Given the description of an element on the screen output the (x, y) to click on. 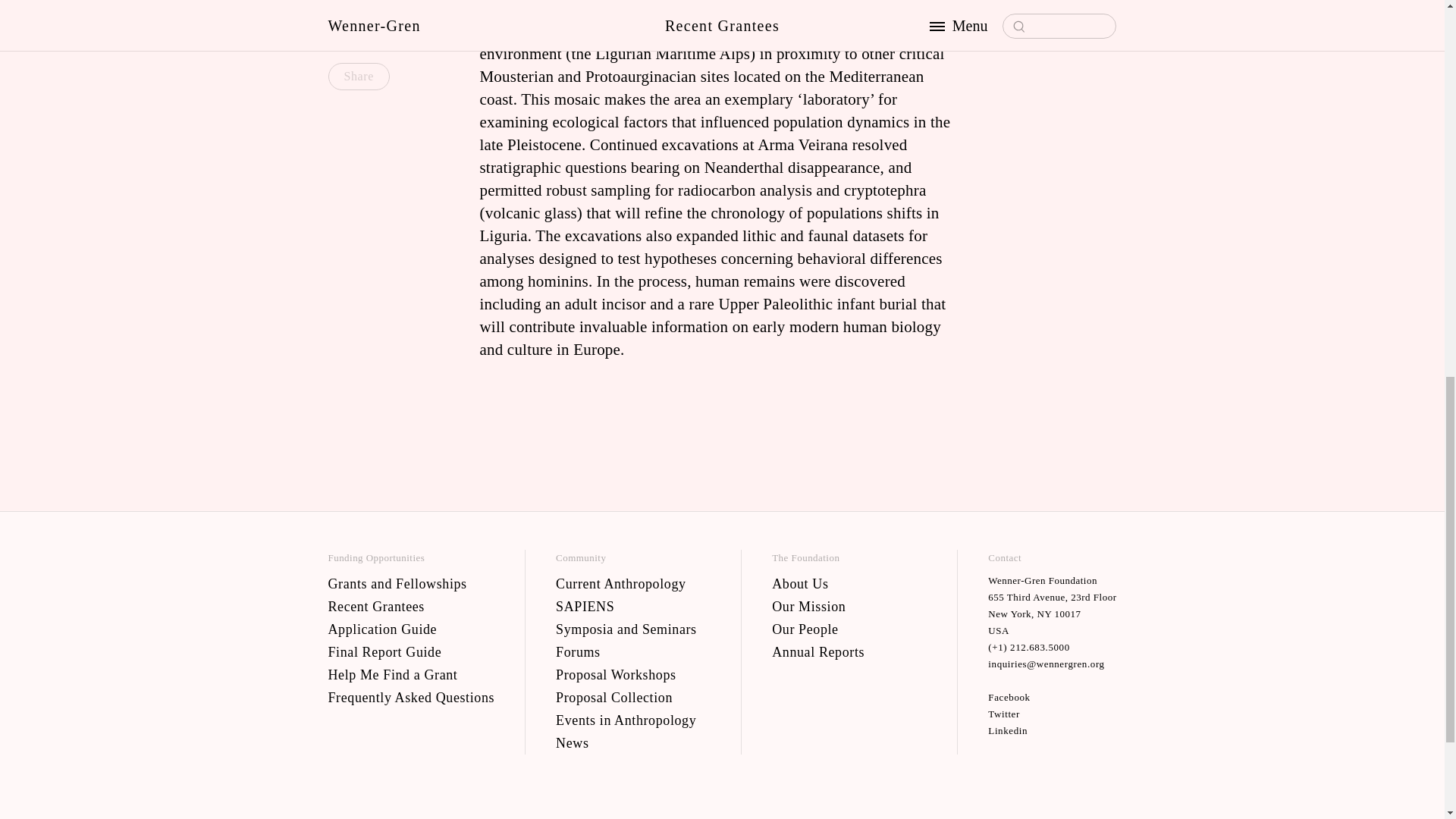
Symposia and Seminars (633, 628)
linkedin (1052, 729)
Grants and Fellowships (411, 582)
Frequently Asked Questions (411, 696)
SAPIENS (633, 605)
Final Report Guide (411, 650)
Current Anthropology (633, 582)
twitter (1052, 713)
facebook (1052, 696)
Application Guide (411, 628)
Recent Grantees (411, 605)
Forums (633, 650)
Proposal Workshops (633, 673)
Help Me Find a Grant (411, 673)
